Given the description of an element on the screen output the (x, y) to click on. 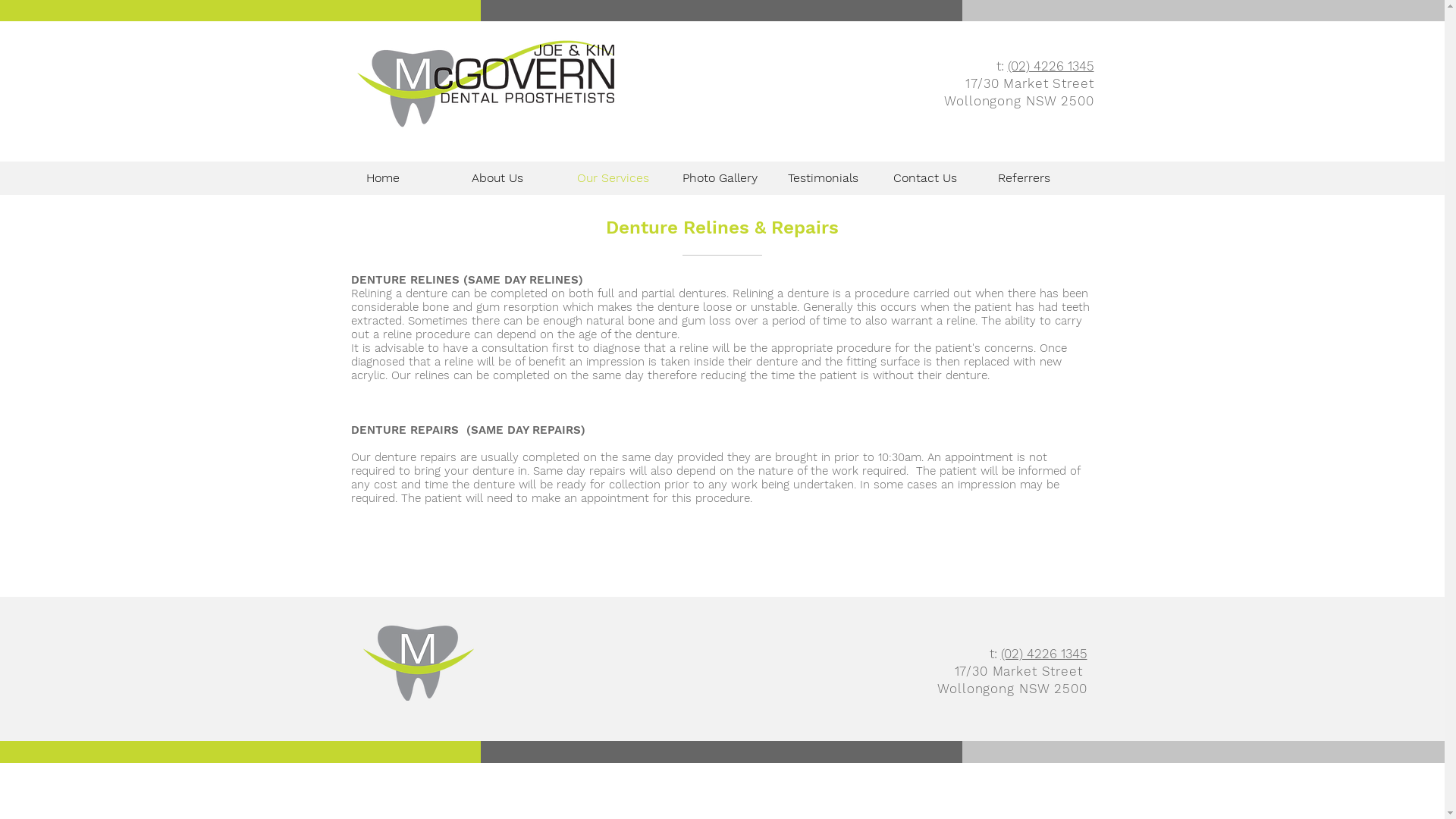
Photo Gallery Element type: text (722, 177)
About Us Element type: text (511, 177)
Home Element type: text (407, 177)
17/30 Market Street  Element type: text (1019, 670)
Testimonials Element type: text (828, 177)
Our Services Element type: text (618, 177)
Wollongong NSW 2500 Element type: text (1018, 100)
(02) 4226 1345 Element type: text (1050, 65)
Referrers Element type: text (1037, 177)
(02) 4226 1345 Element type: text (1044, 653)
Contact Us Element type: text (933, 177)
Wollongong NSW 2500 Element type: text (1011, 688)
17/30 Market Street Element type: text (1029, 83)
